Given the description of an element on the screen output the (x, y) to click on. 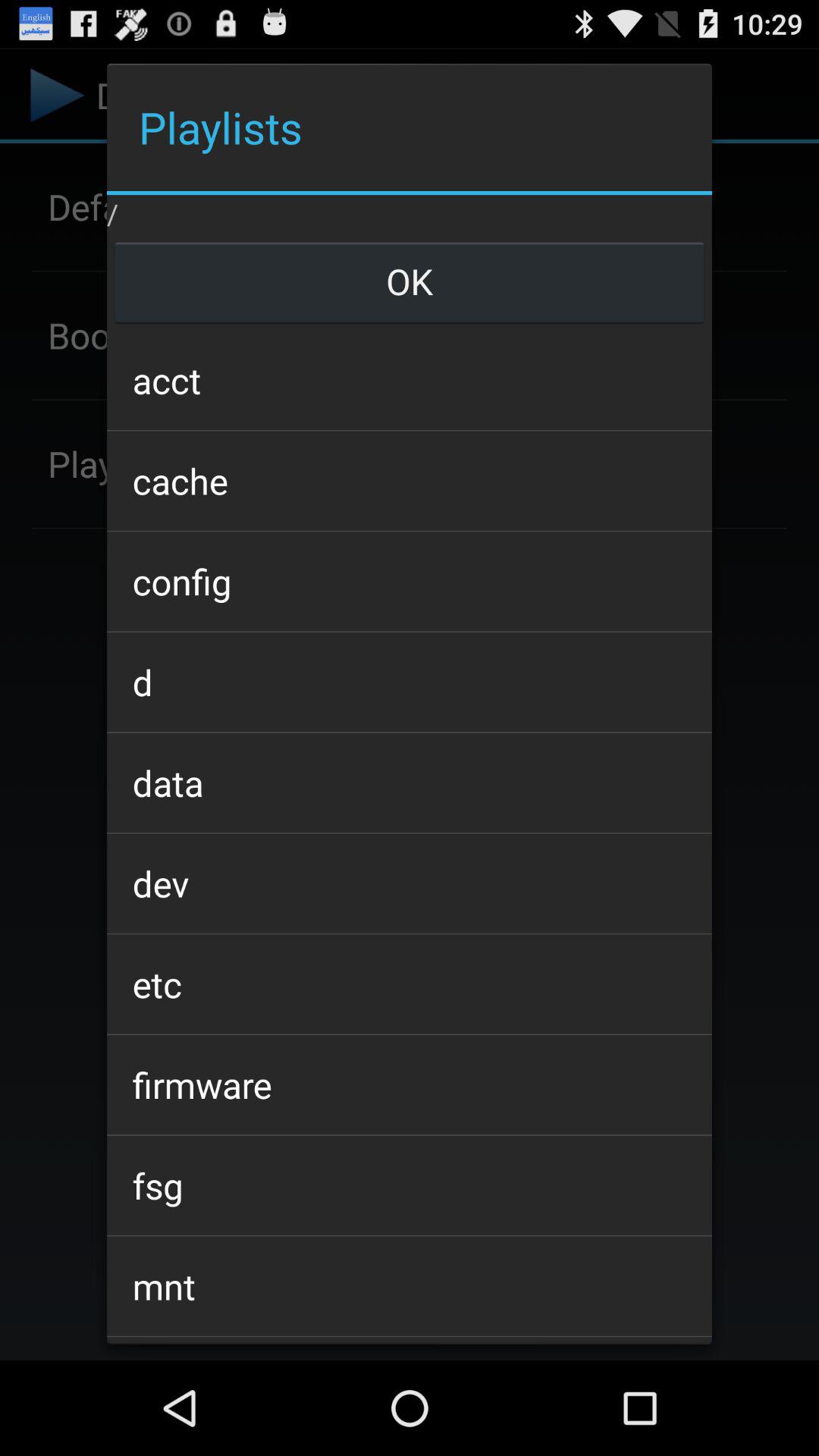
open the item below the ok button (409, 379)
